Given the description of an element on the screen output the (x, y) to click on. 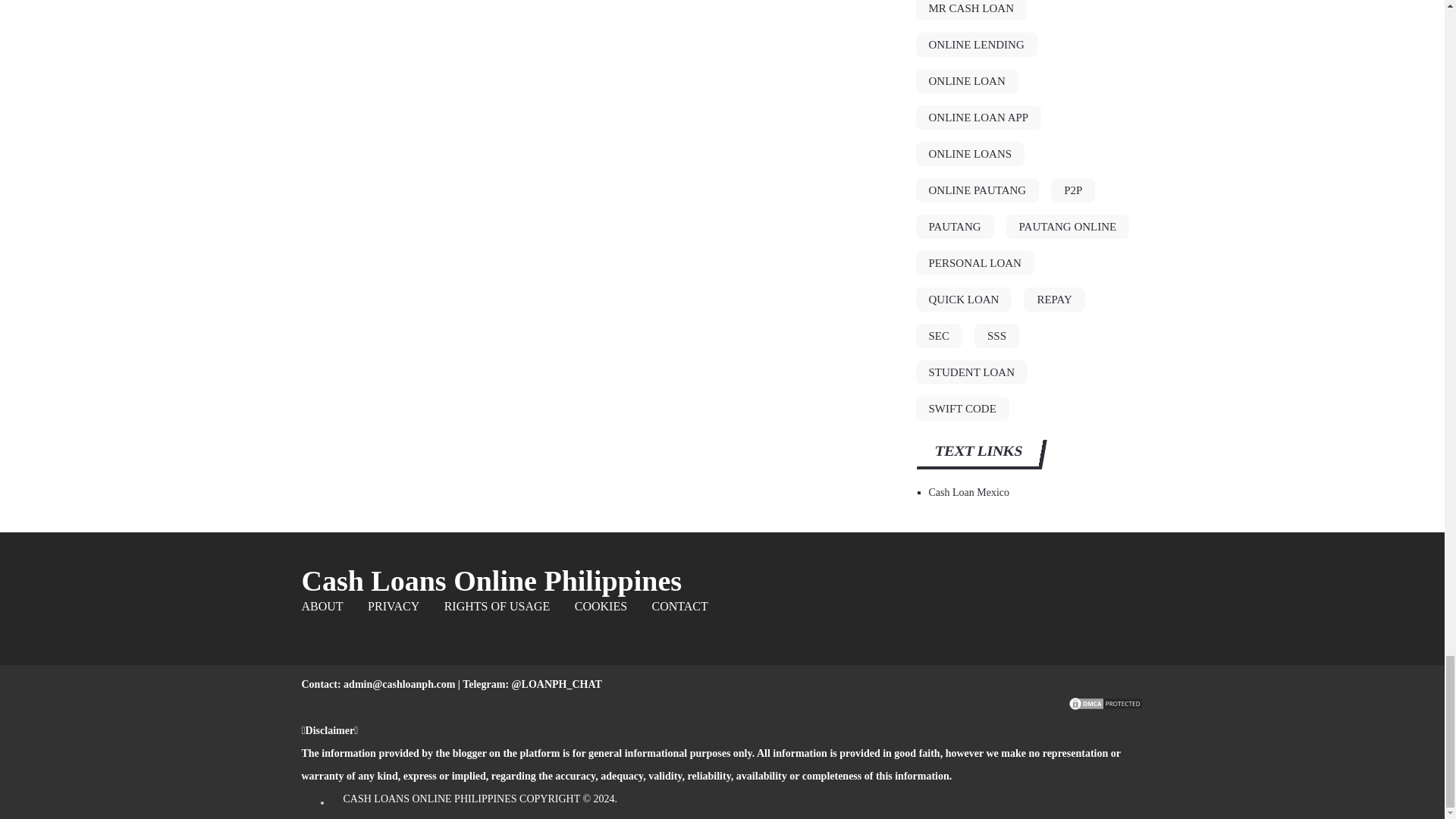
DMCA.com Protection Status (1104, 707)
